Given the description of an element on the screen output the (x, y) to click on. 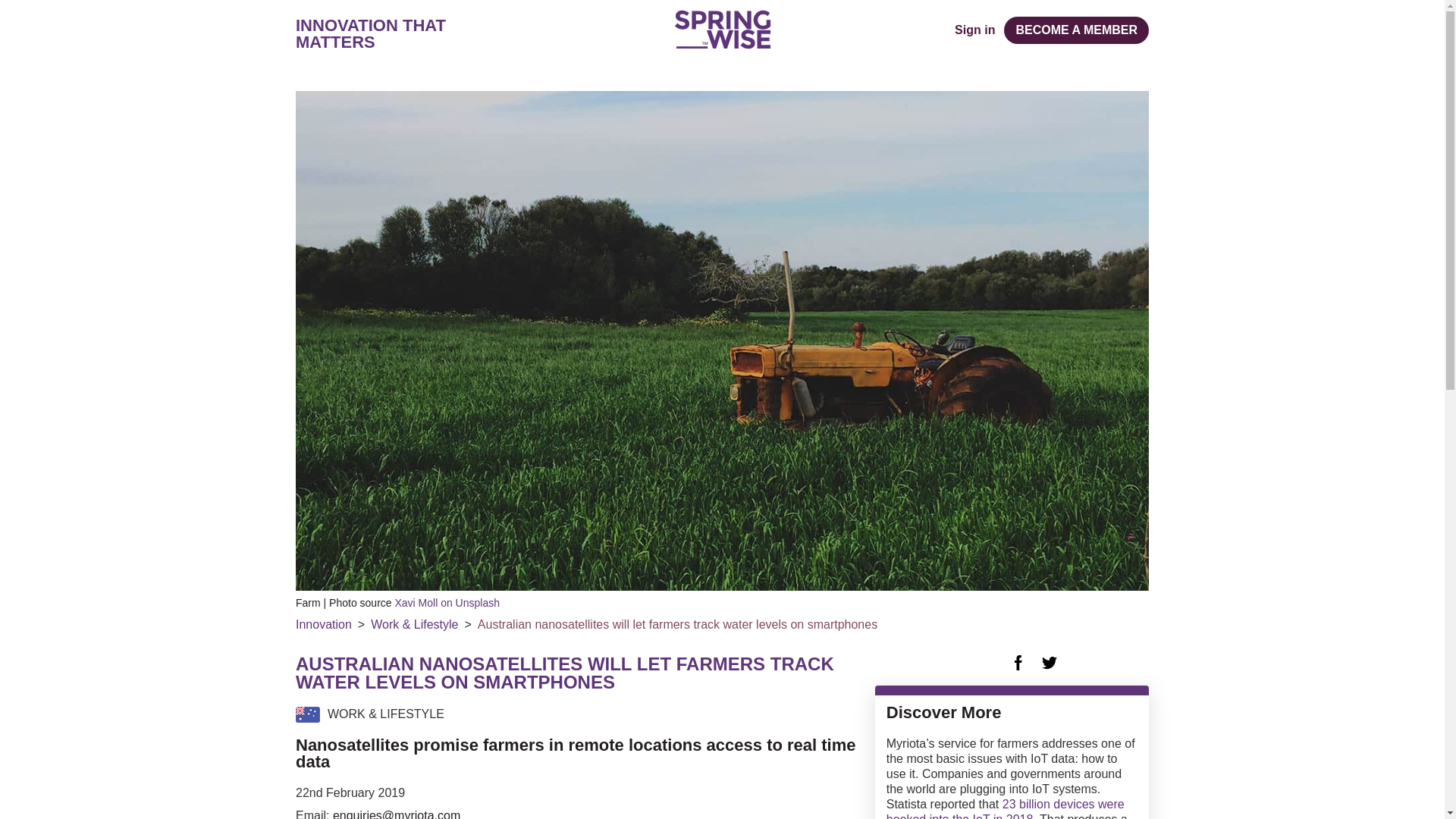
23 billion devices were hooked into the IoT in 2018 (1005, 808)
Springwise (721, 29)
Innovation (323, 624)
BECOME A MEMBER (1076, 30)
Sign in (974, 30)
Home (721, 29)
Twitter (1049, 662)
Facebook (1018, 662)
Xavi Moll on Unsplash (446, 603)
Tumblr (1079, 662)
